Given the description of an element on the screen output the (x, y) to click on. 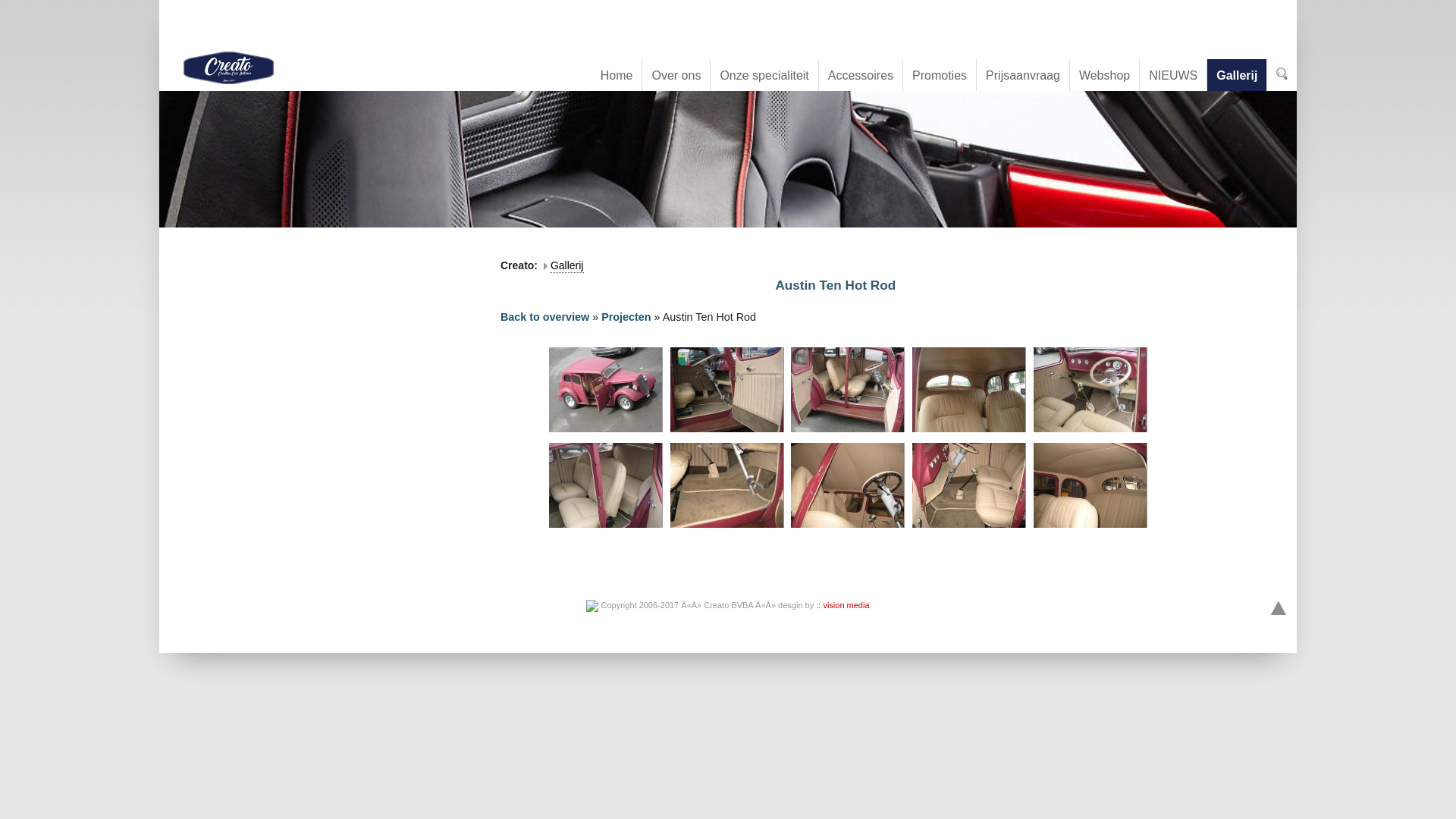
Go to top Element type: hover (1278, 608)
Onze specialiteit Element type: text (764, 75)
Gallerij Element type: text (566, 265)
Home Element type: text (617, 75)
Promoties Element type: text (939, 75)
Gallerij Element type: text (1237, 75)
:: vision media Element type: text (842, 604)
Over ons Element type: text (676, 75)
Prijsaanvraag Element type: text (1023, 75)
Accessoires Element type: text (861, 75)
Webshop Element type: text (1104, 75)
Projecten Element type: text (625, 316)
Back to overview Element type: text (544, 316)
NIEUWS Element type: text (1173, 75)
